Given the description of an element on the screen output the (x, y) to click on. 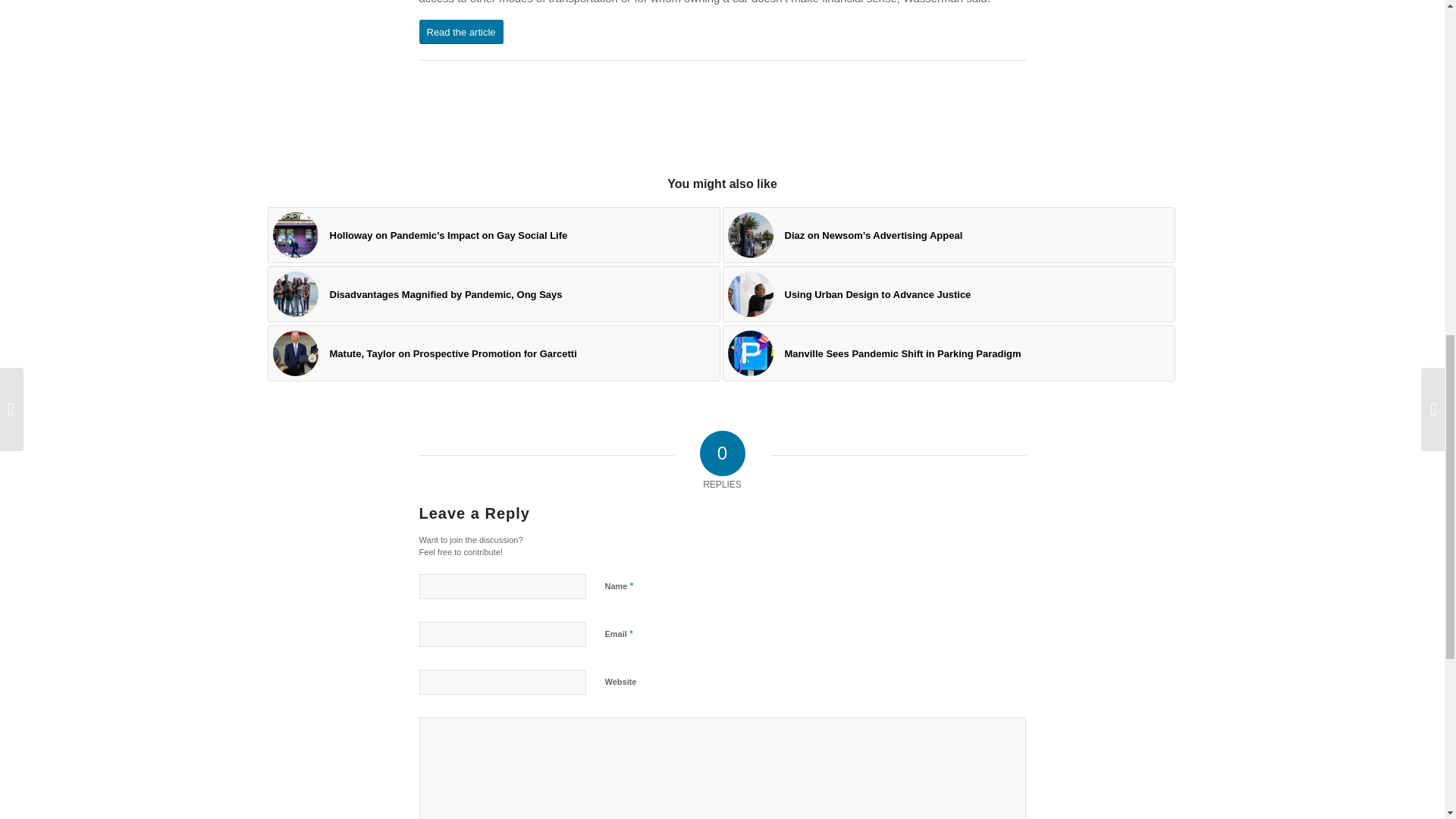
800 (750, 234)
JUD-CruzForman (750, 293)
Disadvantages Magnified by Pandemic, Ong Says (492, 294)
Using Urban Design to Advance Justice (948, 294)
3530f94d95159b96c1d4fe6160c78c1b (295, 293)
